Given the description of an element on the screen output the (x, y) to click on. 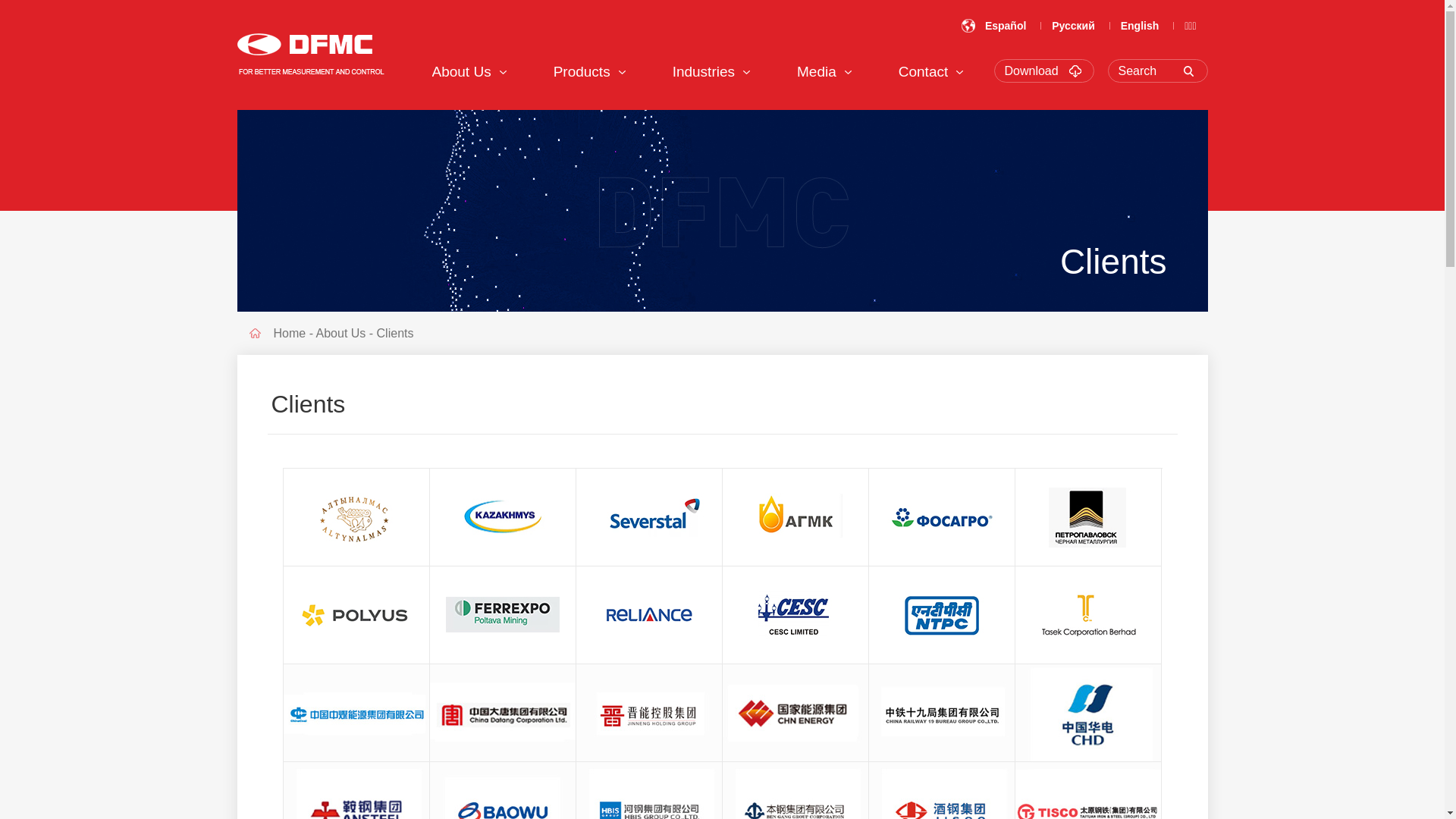
Products Element type: text (581, 71)
Industries Element type: text (703, 71)
English Element type: text (1139, 25)
Clients Element type: text (395, 332)
Search Element type: text (1161, 70)
Home Element type: text (289, 332)
Media Element type: text (816, 71)
Contact Element type: text (922, 71)
Download Element type: text (1048, 70)
About Us Element type: text (341, 332)
About Us Element type: text (461, 71)
